Given the description of an element on the screen output the (x, y) to click on. 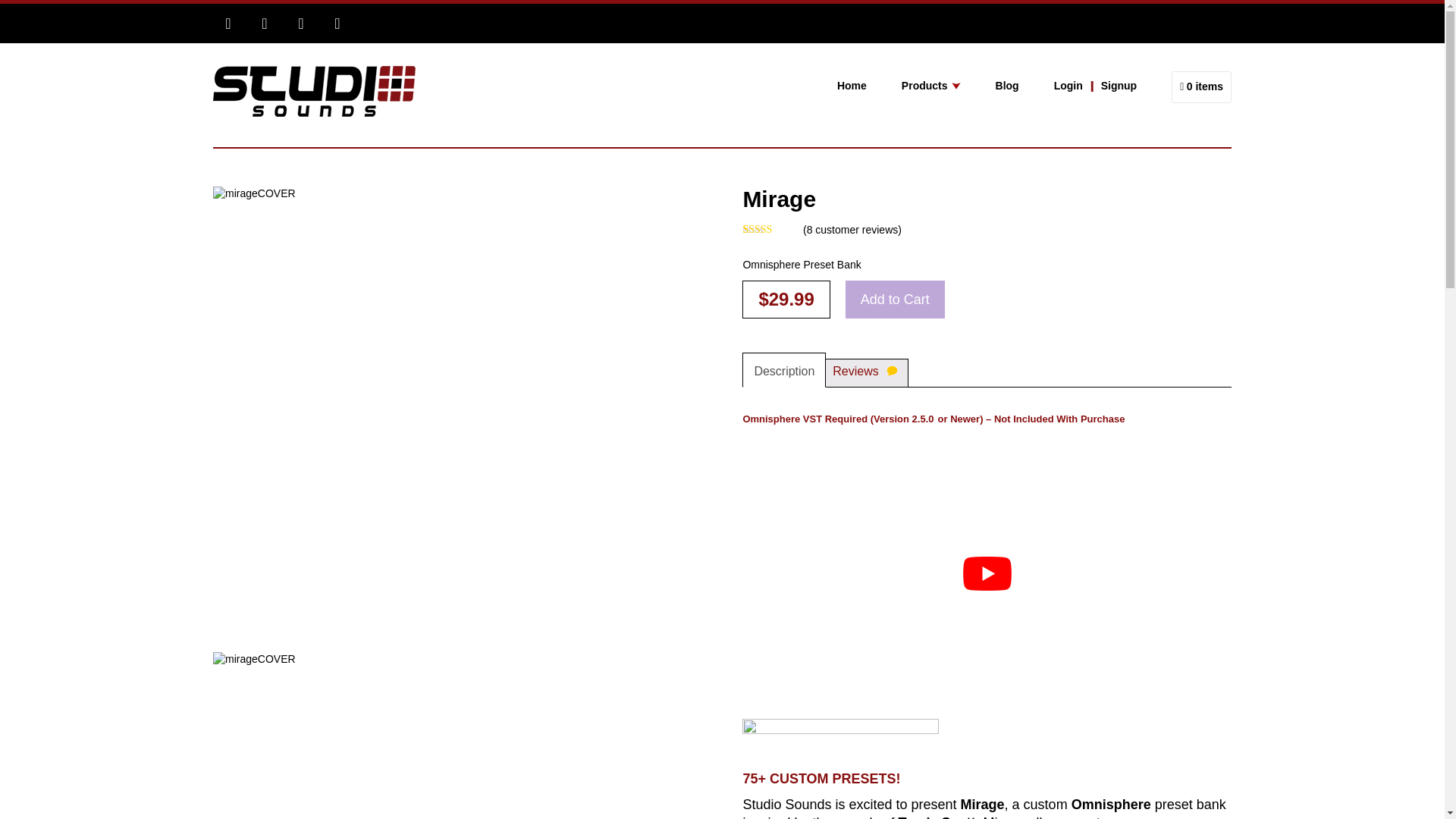
mirageCOVER (282, 721)
Home (869, 86)
Login (1072, 86)
Products (948, 86)
Instagram (300, 23)
YouTube (336, 23)
Twitter (263, 23)
Signup (1136, 86)
Blog (1024, 86)
Description (783, 369)
